Given the description of an element on the screen output the (x, y) to click on. 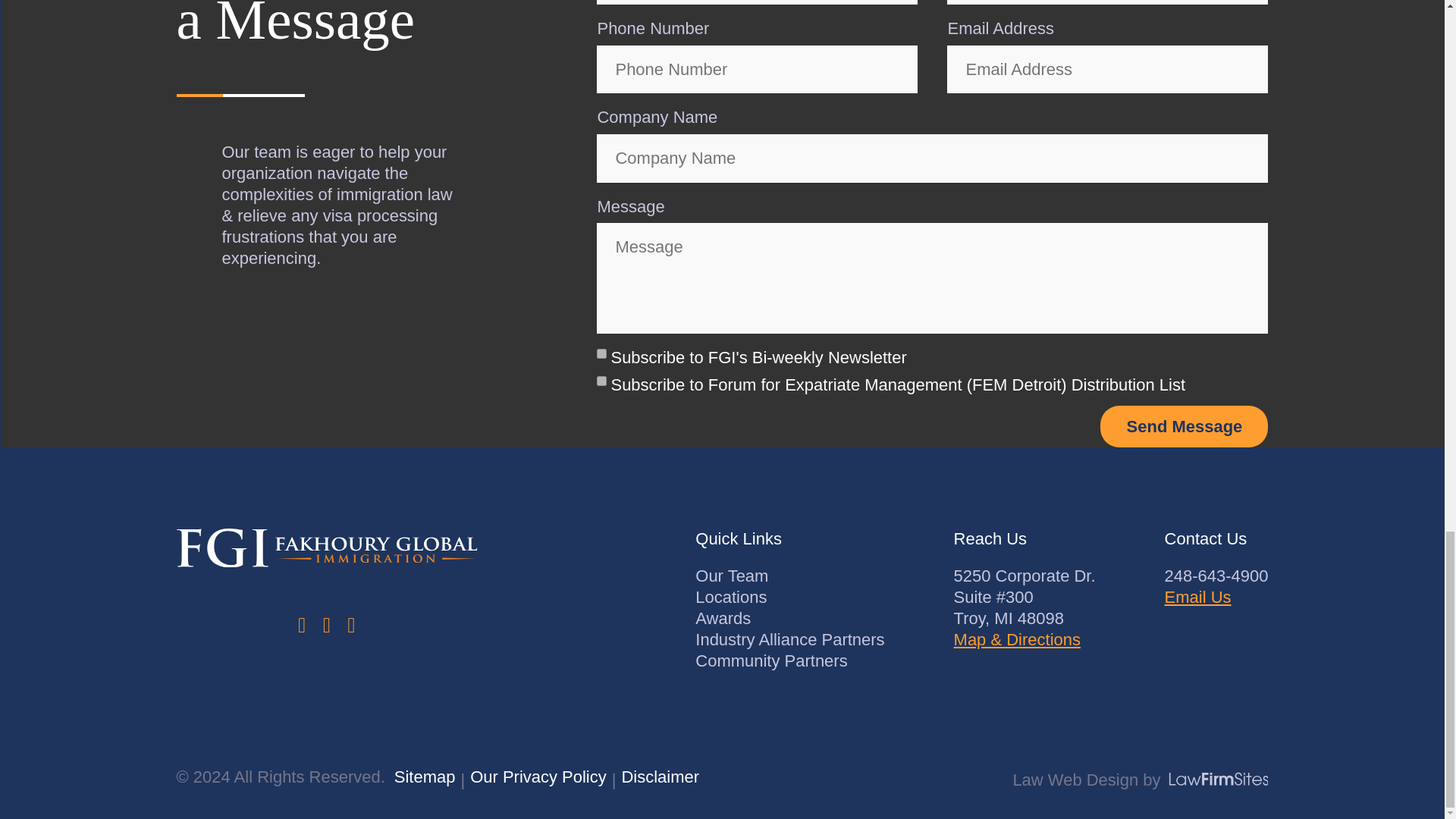
Subscribe to FGI's Bi-weekly Newsletter (601, 353)
Send Message (1184, 426)
